Given the description of an element on the screen output the (x, y) to click on. 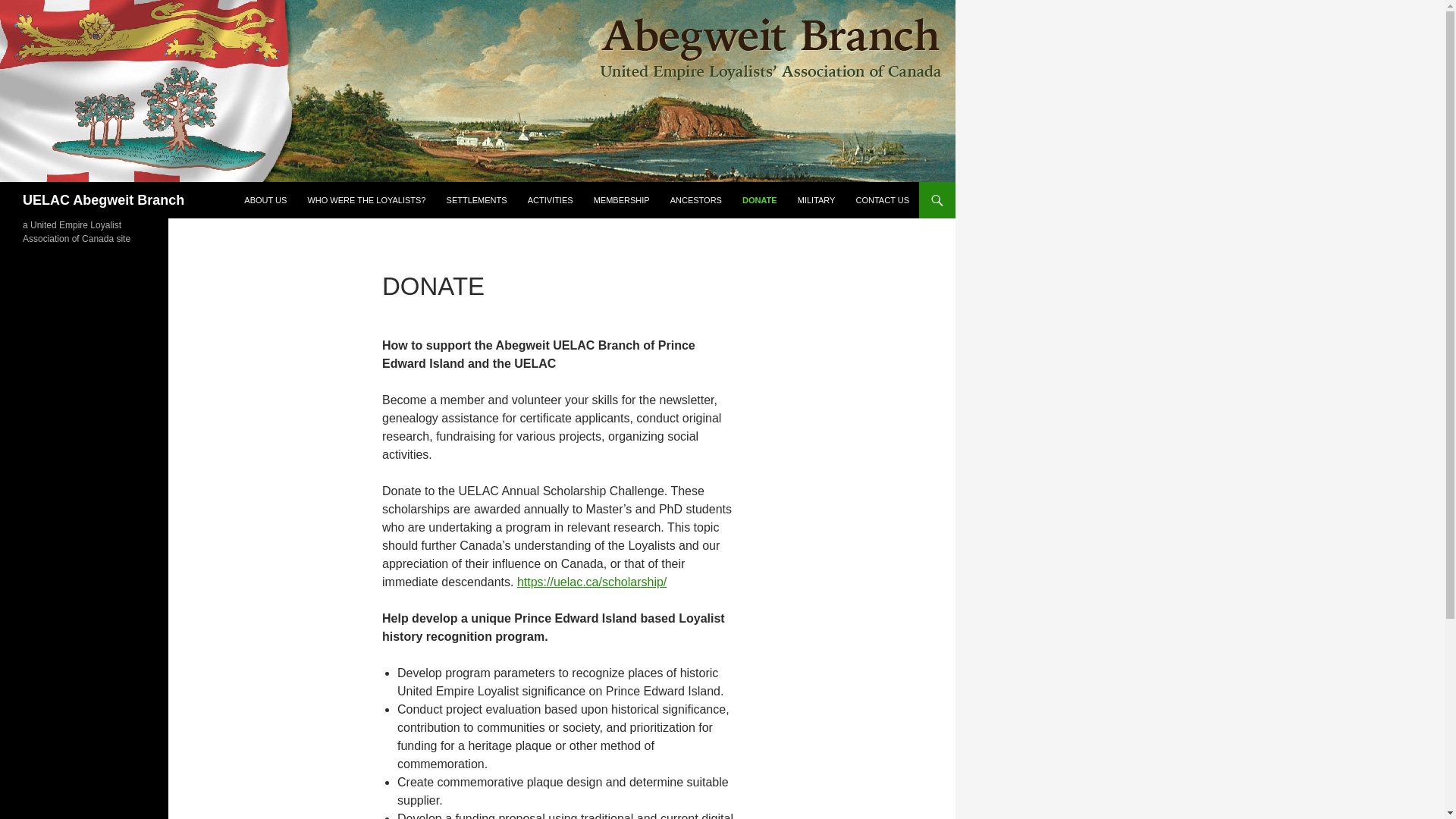
ANCESTORS (695, 199)
SETTLEMENTS (477, 199)
MEMBERSHIP (622, 199)
CONTACT US (881, 199)
MILITARY (816, 199)
ABOUT US (264, 199)
DONATE (759, 199)
ACTIVITIES (550, 199)
UELAC Abegweit Branch (103, 199)
WHO WERE THE LOYALISTS? (365, 199)
